Given the description of an element on the screen output the (x, y) to click on. 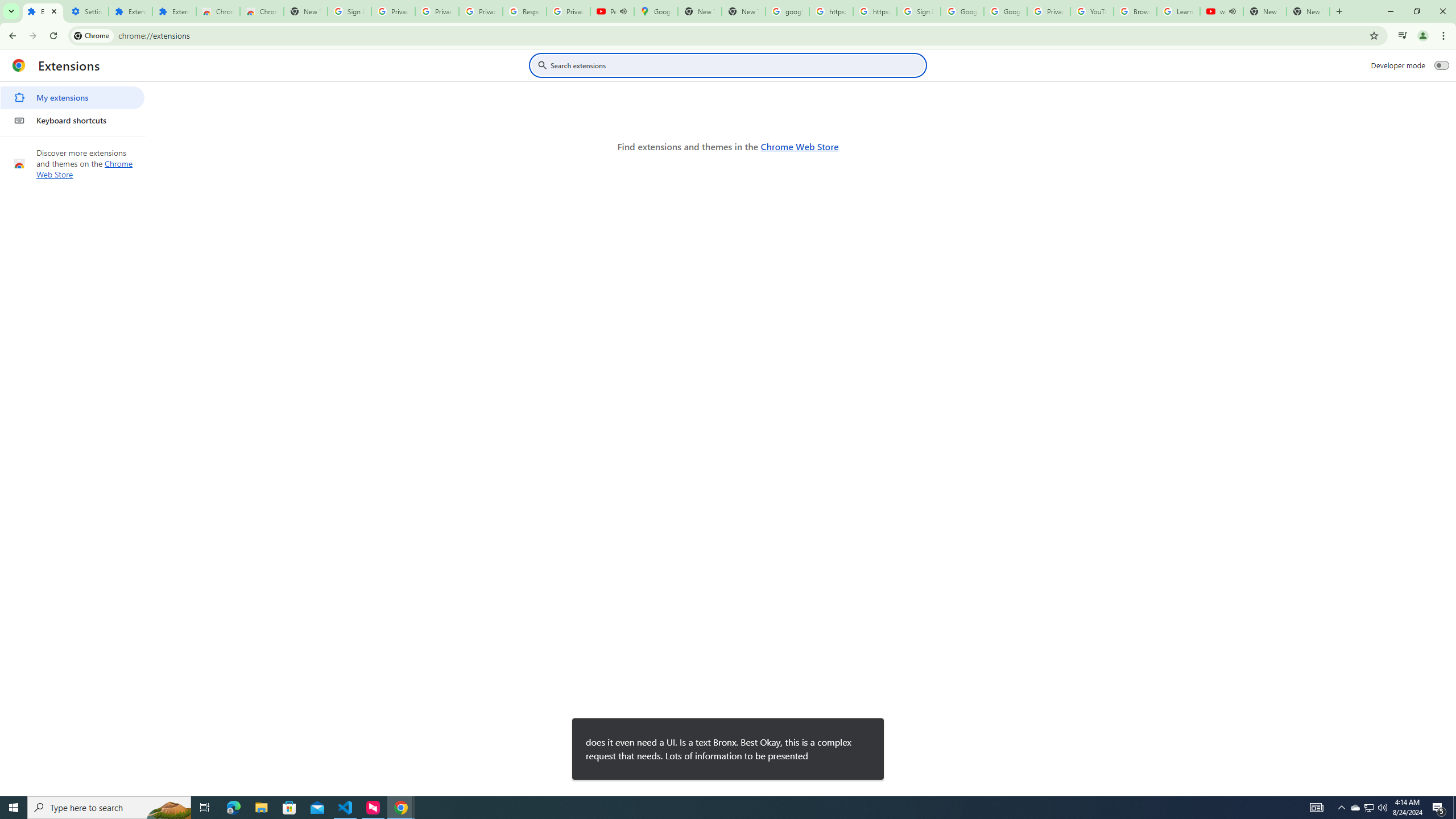
Google Maps (655, 11)
Chrome Web Store - Themes (261, 11)
Personalized AI for you | Gemini - YouTube - Audio playing (612, 11)
